Given the description of an element on the screen output the (x, y) to click on. 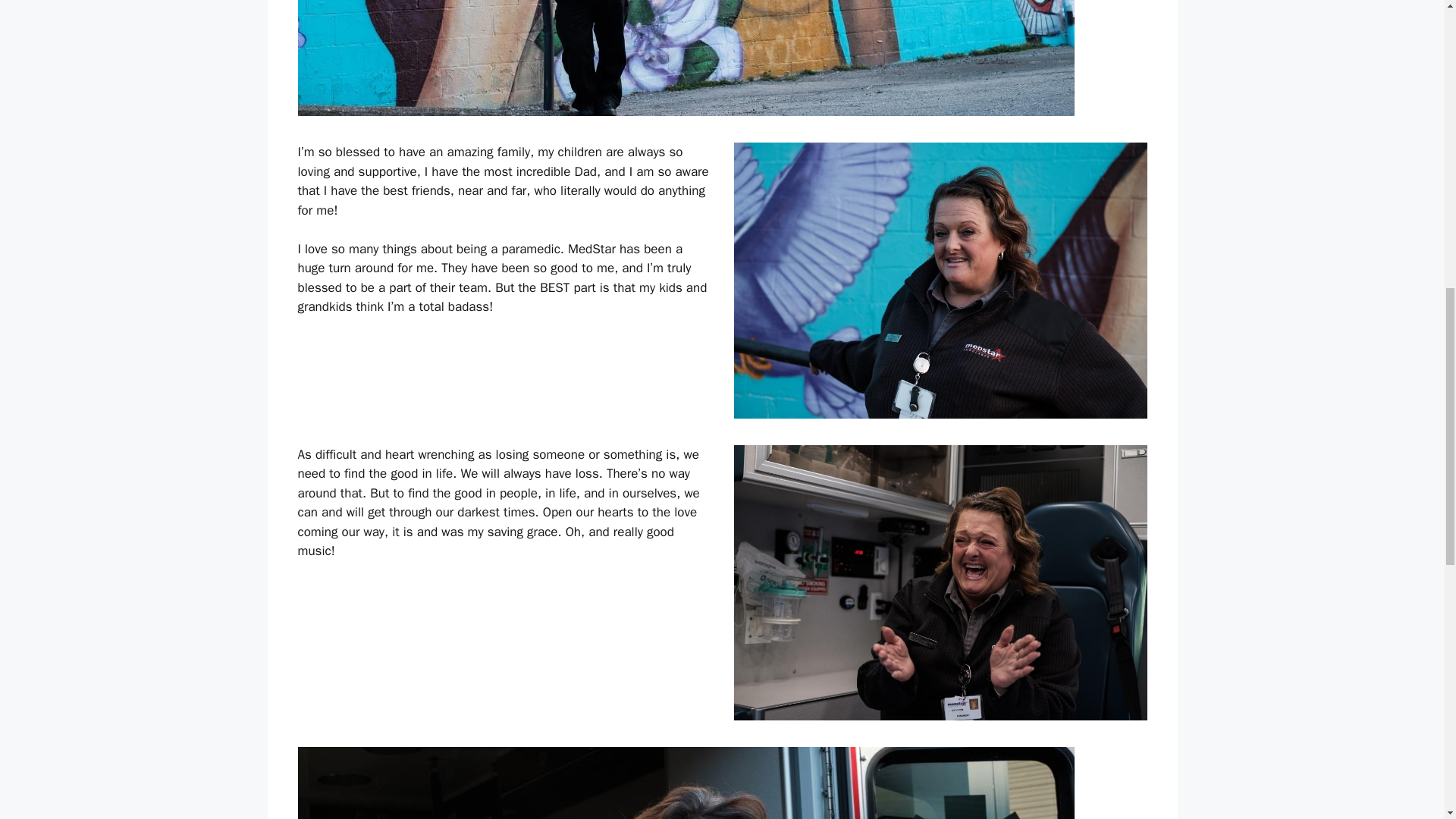
storylabresearch-frontline-stories-47-3 (940, 583)
storylabresearch-frontline-stories-47-1 (685, 58)
storylabresearch-frontline-stories-47-2 (940, 280)
storylabresearch-frontline-stories-47-4 (685, 782)
Scroll back to top (1406, 720)
